Given the description of an element on the screen output the (x, y) to click on. 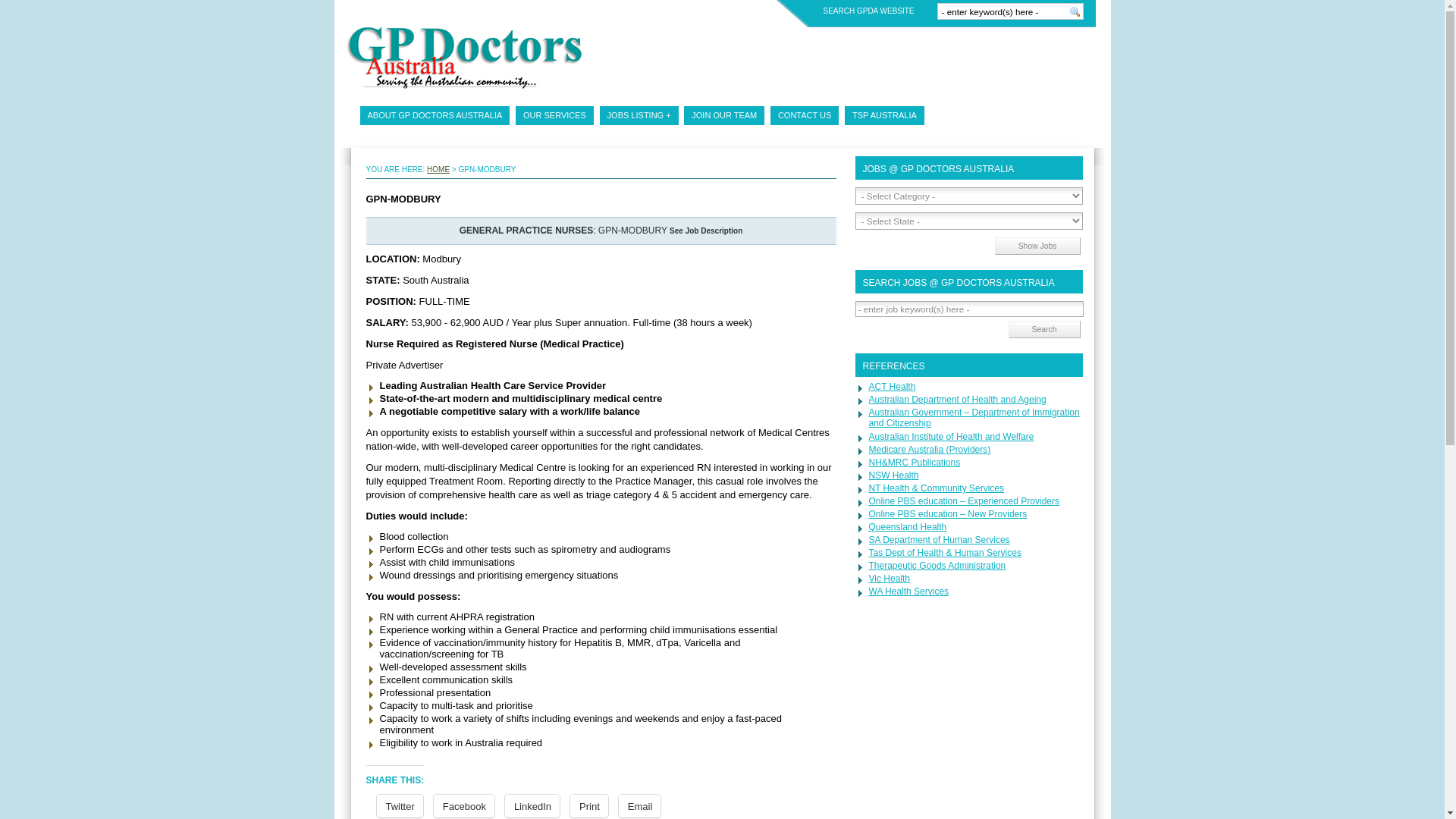
JOBS LISTING Element type: text (638, 115)
CONTACT US Element type: text (804, 115)
ACT Health Element type: text (892, 386)
See Job Description Element type: text (705, 230)
Twitter Element type: text (399, 805)
NH&MRC Publications Element type: text (914, 462)
Search Element type: text (1044, 329)
Show Jobs Element type: text (1037, 245)
Queensland Health Element type: text (908, 526)
Tas Dept of Health & Human Services Element type: text (945, 552)
SA Department of Human Services Element type: text (939, 539)
Print Element type: text (589, 805)
Vic Health Element type: text (889, 578)
GENERAL PRACTICE NURSES Element type: text (526, 230)
TSP AUSTRALIA Element type: text (884, 115)
WA Health Services Element type: text (909, 591)
Medicare Australia (Providers) Element type: text (930, 449)
Facebook Element type: text (463, 805)
Email Element type: text (639, 805)
JOIN OUR TEAM Element type: text (724, 115)
LinkedIn Element type: text (532, 805)
OUR SERVICES Element type: text (554, 115)
HOME Element type: text (437, 169)
NT Health & Community Services Element type: text (936, 488)
NSW Health Element type: text (894, 475)
ABOUT GP DOCTORS AUSTRALIA Element type: text (434, 115)
Search GP Doctors Australia website Element type: hover (1074, 11)
Therapeutic Goods Administration Element type: text (937, 565)
Australian Department of Health and Ageing Element type: text (957, 399)
Australian Institute of Health and Welfare Element type: text (951, 436)
